Given the description of an element on the screen output the (x, y) to click on. 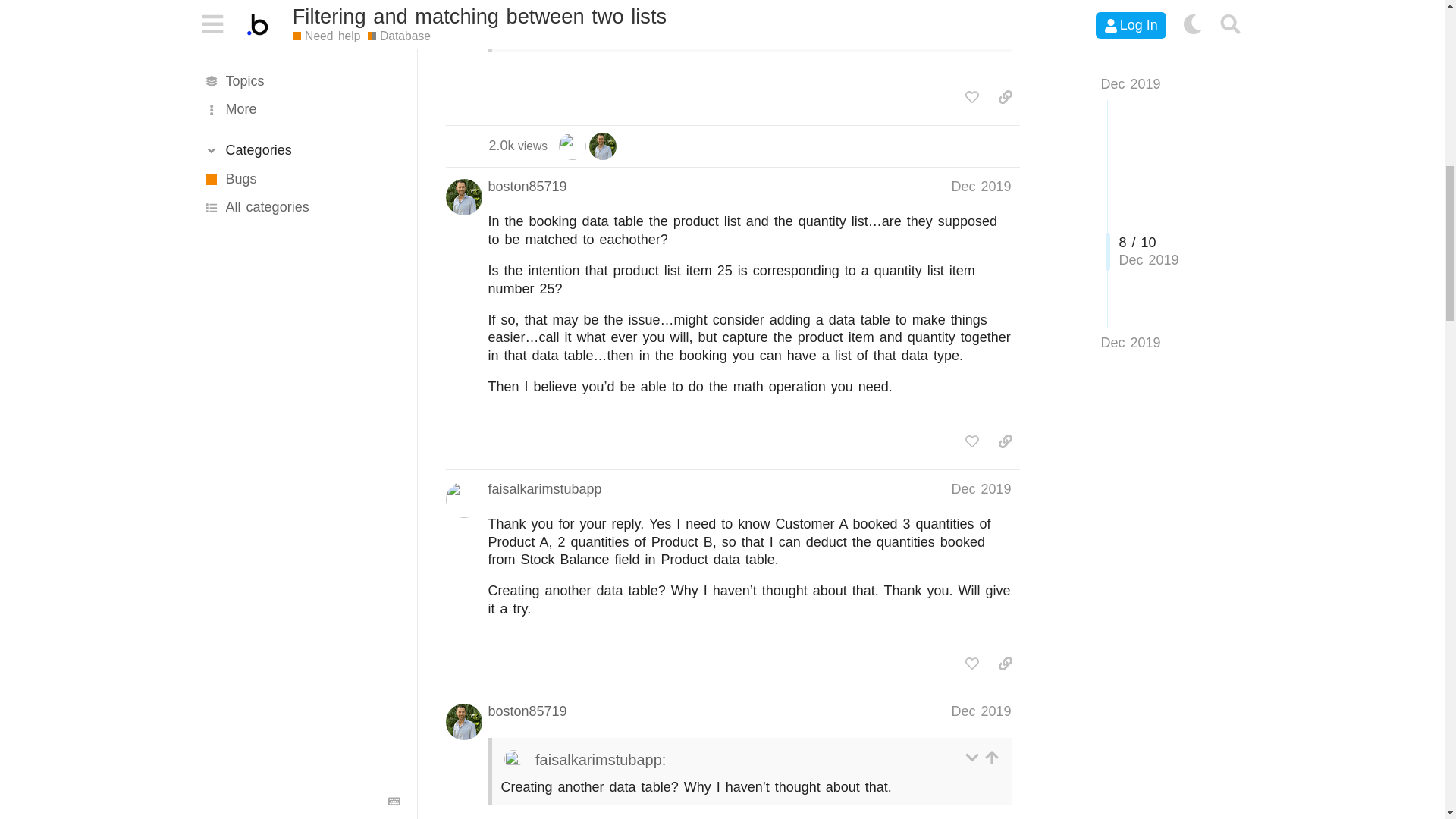
like this post (517, 145)
faisalkarimstubapp (972, 96)
Keyboard Shortcuts (572, 145)
boston85719 (394, 31)
copy a link to this post to clipboard (641, 7)
